Given the description of an element on the screen output the (x, y) to click on. 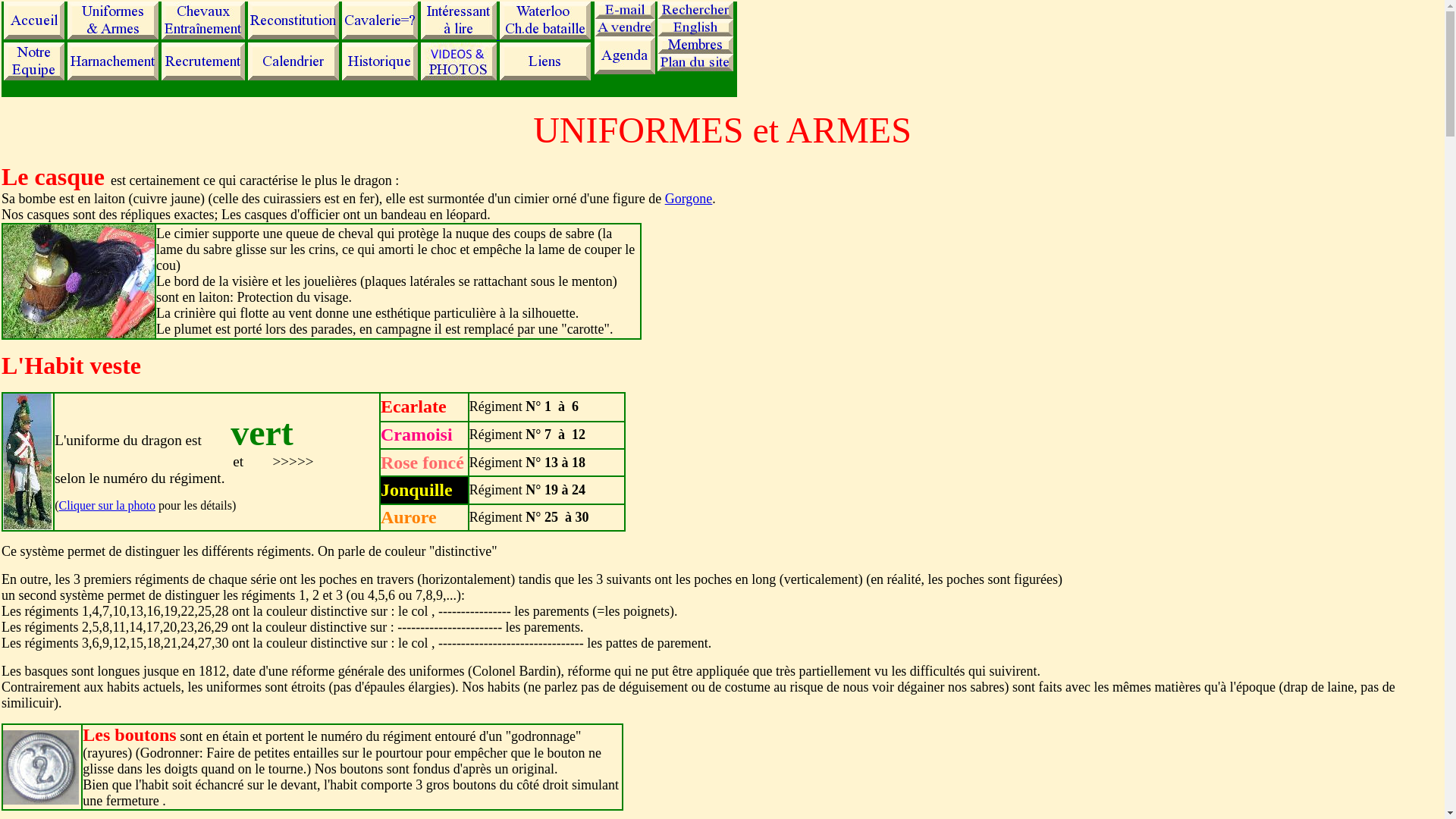
Cliquer sur la photo Element type: text (106, 504)
Gorgone Element type: text (688, 198)
